Given the description of an element on the screen output the (x, y) to click on. 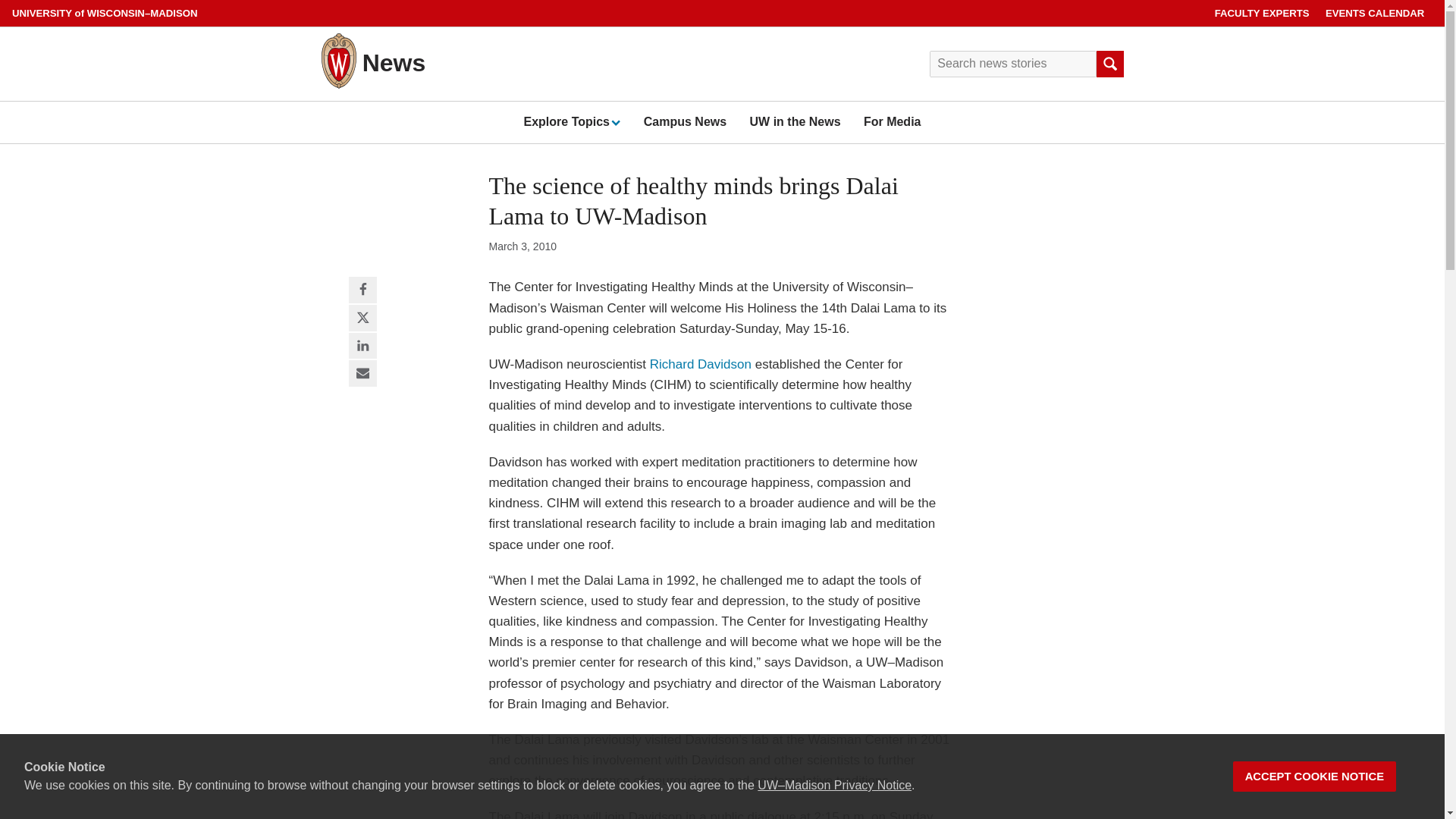
For Media (892, 121)
News (394, 62)
EVENTS CALENDAR (1374, 13)
Expand (615, 122)
Skip to main content (3, 3)
Submit search (1109, 63)
Share via X, formerly Twitter (362, 318)
Campus News (684, 121)
UW in the News (795, 121)
Share via email (362, 373)
